Given the description of an element on the screen output the (x, y) to click on. 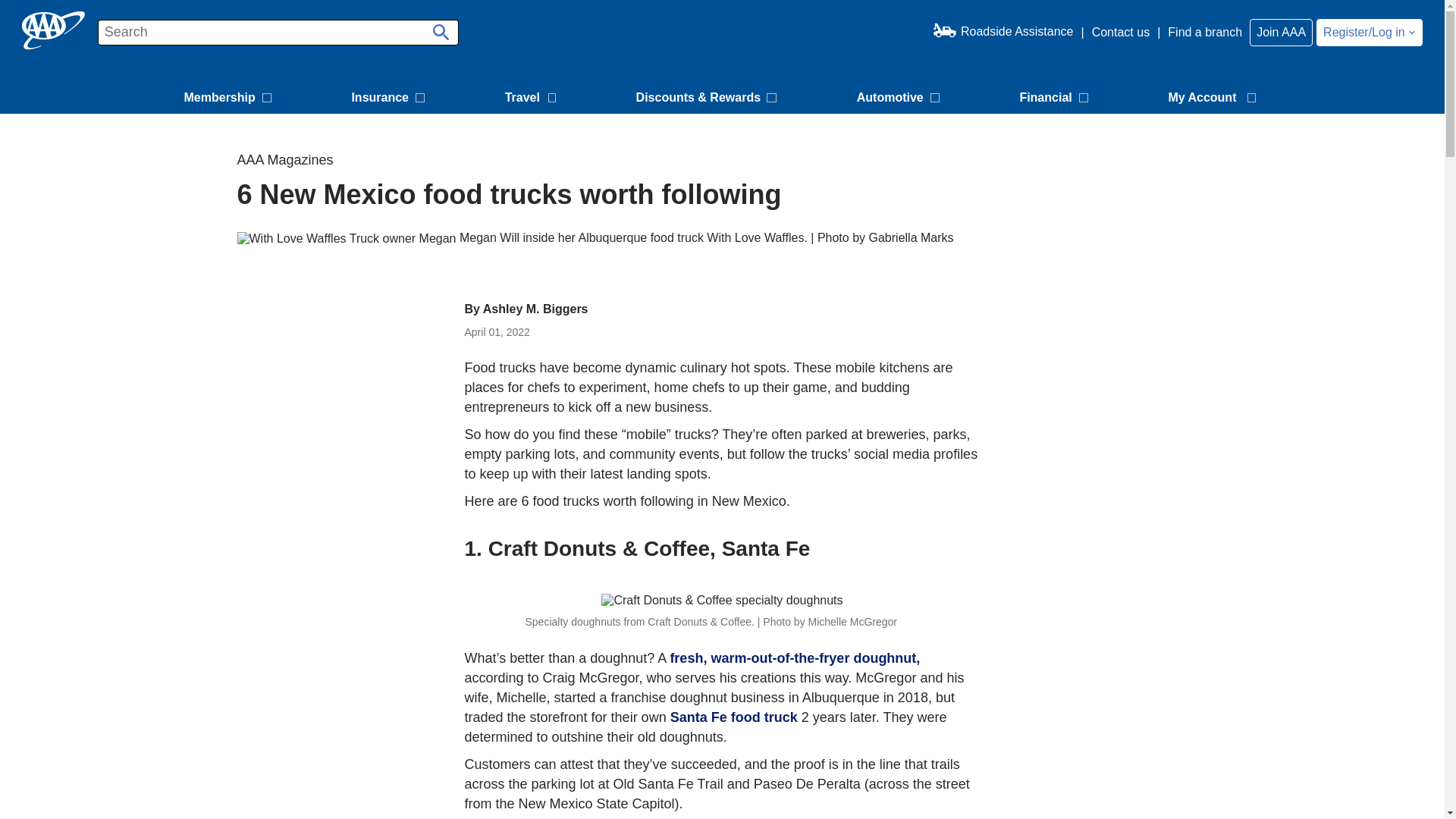
Automotive (900, 98)
Type search word (277, 32)
Automobile Club logo (52, 30)
Search (438, 26)
Financial (1055, 98)
Insurance (389, 98)
Craft Donuts Santa Fe (733, 717)
Find a branch (1204, 31)
My Account (1214, 98)
